Given the description of an element on the screen output the (x, y) to click on. 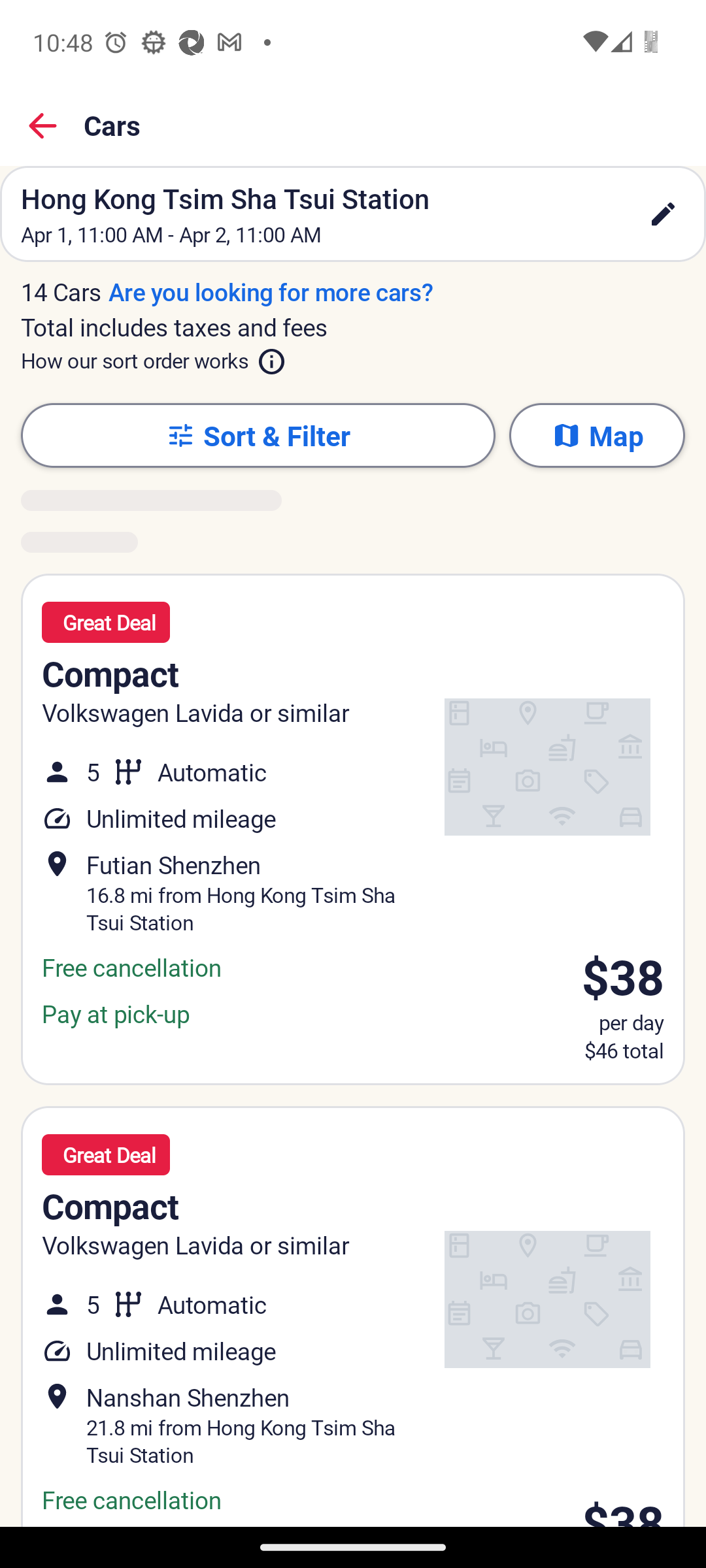
Back (43, 125)
edit (662, 213)
